Given the description of an element on the screen output the (x, y) to click on. 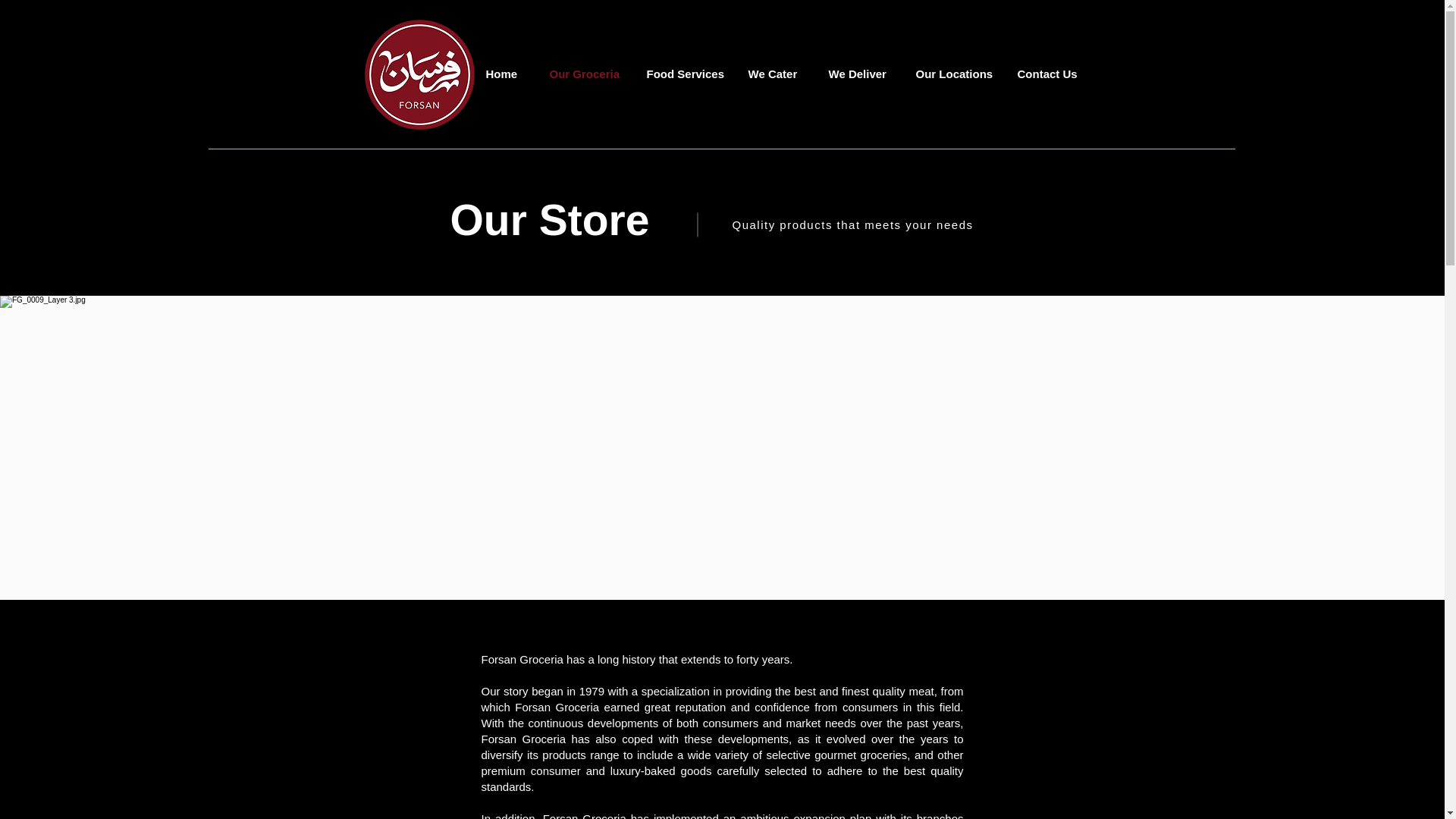
Our Locations (955, 73)
We Deliver (860, 73)
We Cater (776, 73)
Home (506, 73)
Food Services (685, 73)
Contact Us (1049, 73)
Our Groceria (586, 73)
